Given the description of an element on the screen output the (x, y) to click on. 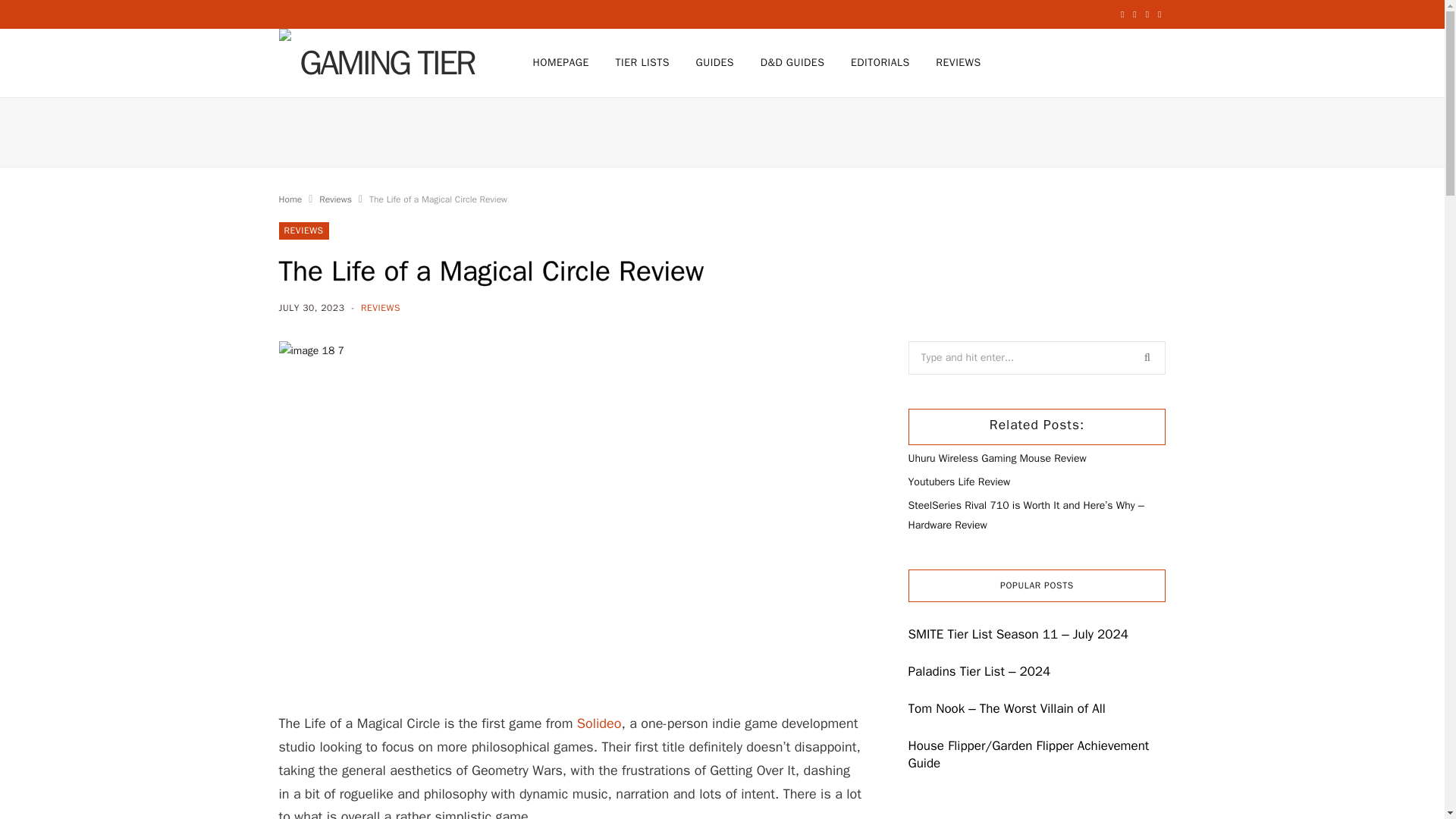
EDITORIALS (880, 62)
GUIDES (714, 62)
REVIEWS (957, 62)
HOMEPAGE (560, 62)
Reviews (335, 199)
JULY 30, 2023 (313, 307)
Home (290, 199)
TIER LISTS (642, 62)
Solideo (598, 723)
Gaming Tier List (381, 62)
REVIEWS (380, 307)
REVIEWS (304, 230)
